Given the description of an element on the screen output the (x, y) to click on. 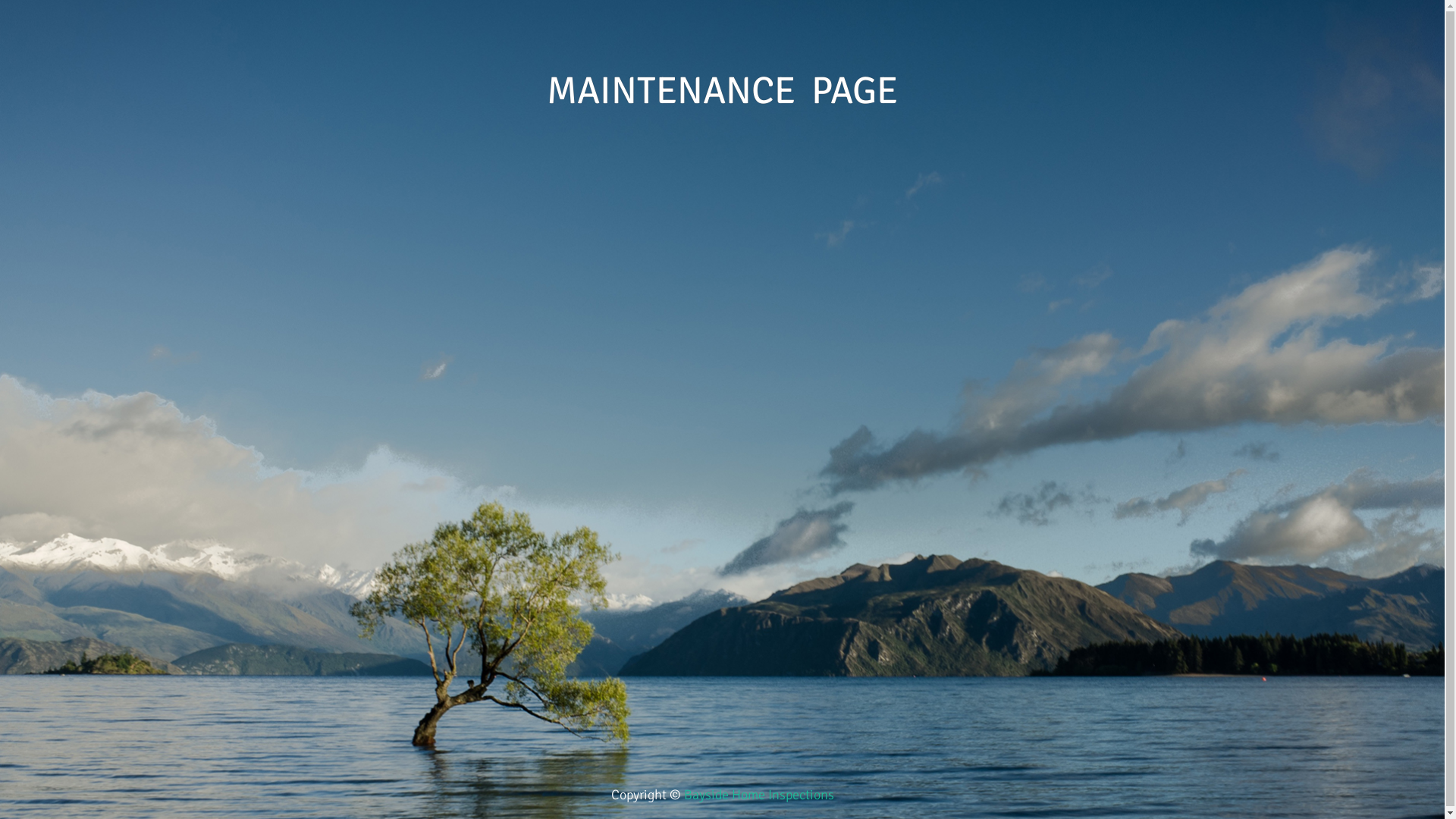
Bayside Home Inspections Element type: text (759, 794)
